Given the description of an element on the screen output the (x, y) to click on. 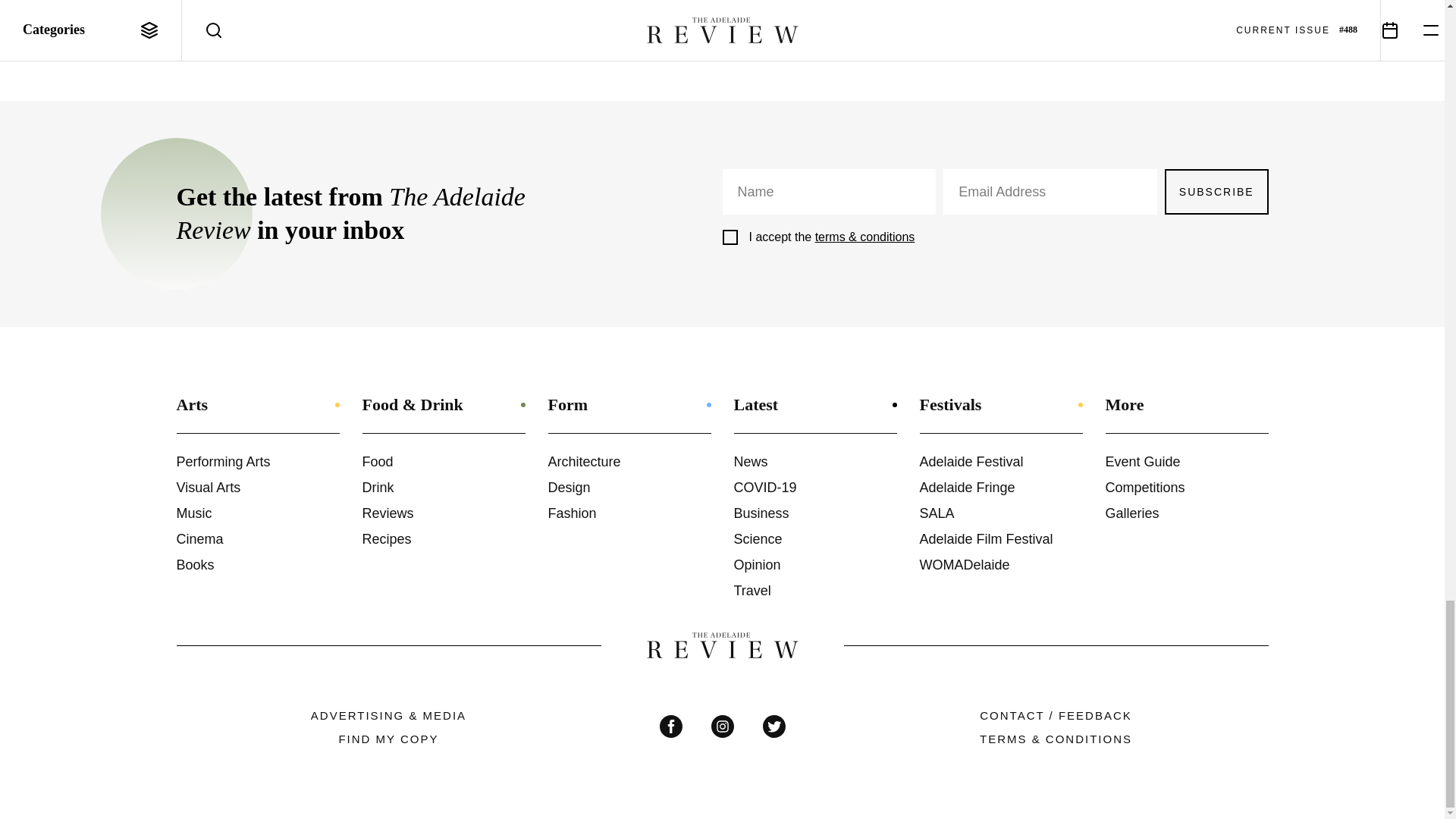
Instagram (721, 726)
Facebook (670, 726)
Twitter (773, 726)
